Given the description of an element on the screen output the (x, y) to click on. 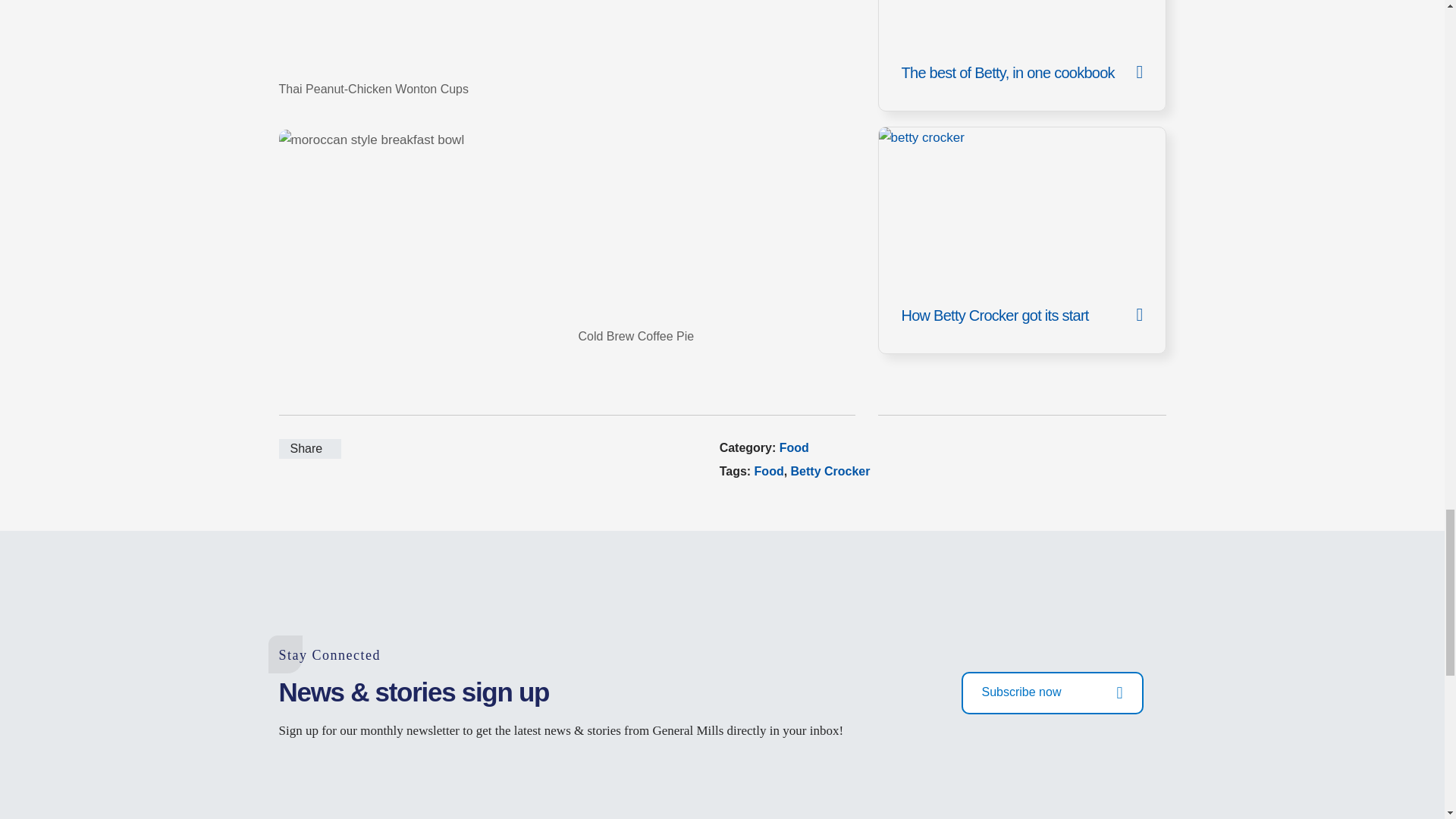
Food (769, 471)
how-betty-crocker-got-its-start (1021, 239)
Food (793, 447)
Betty Crocker (830, 471)
Subscribe now (1051, 692)
How Betty Crocker got its start (1021, 239)
The best of Betty, in one cookbook (1021, 56)
the-best-of-betty-in-one-cookbook (1021, 56)
